Given the description of an element on the screen output the (x, y) to click on. 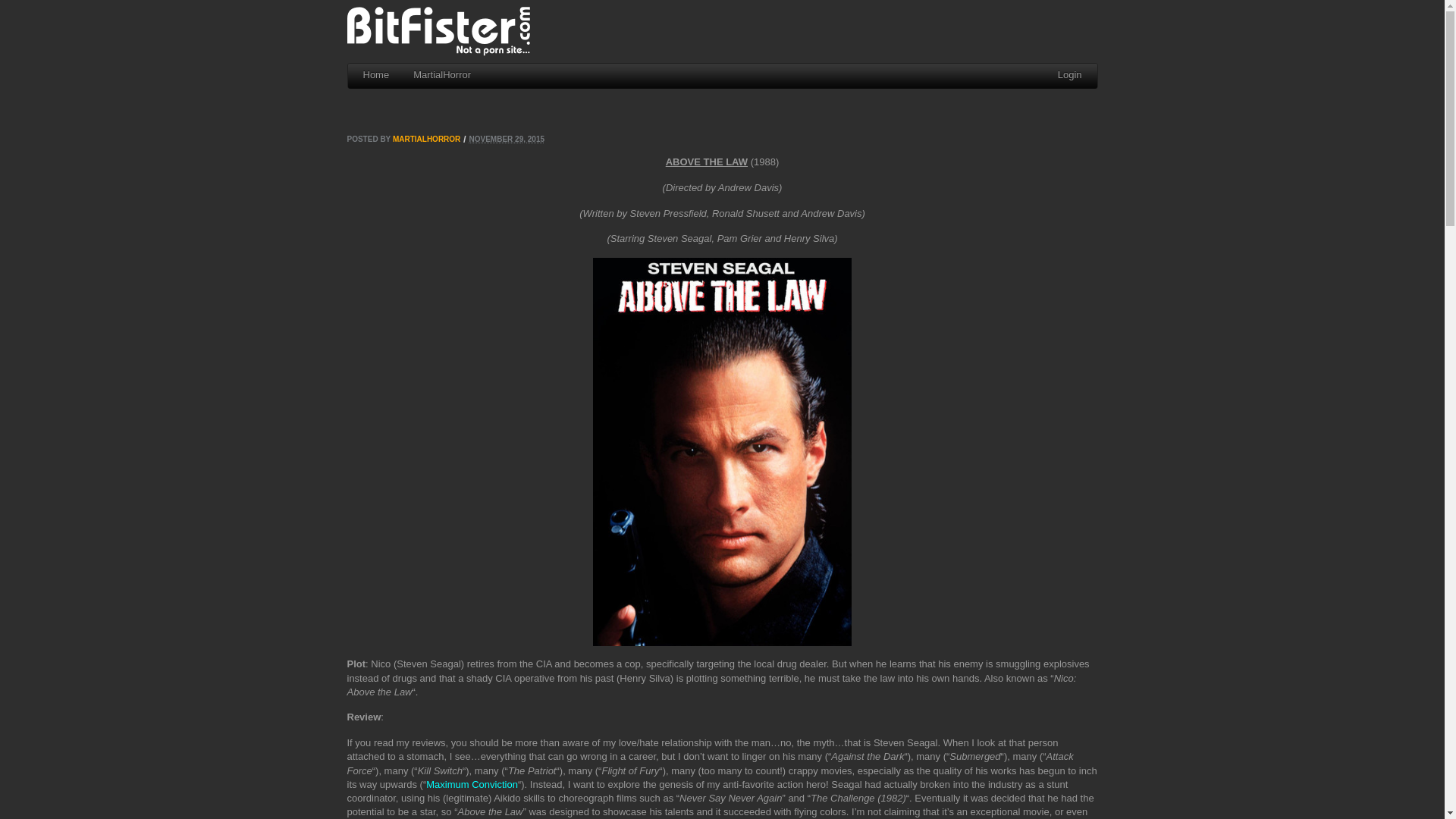
MartialHorror (443, 75)
MARTIALHORROR (426, 139)
Home (378, 75)
Login (1070, 75)
Maximum Conviction (472, 784)
Posts by MartialHorror (426, 139)
